Given the description of an element on the screen output the (x, y) to click on. 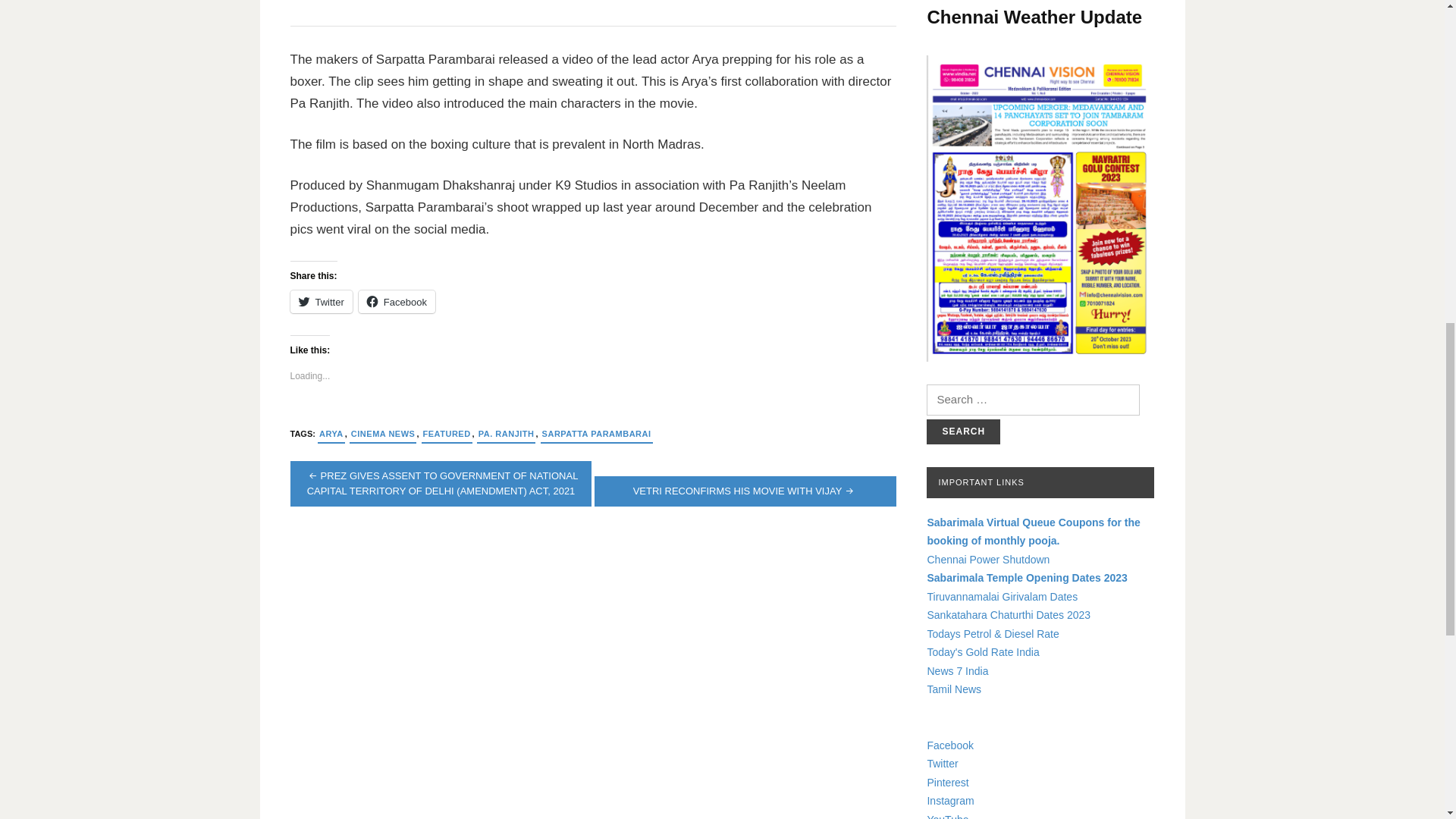
Click to share on Twitter (320, 301)
Search (963, 431)
Search (963, 431)
Click to share on Facebook (396, 301)
